Given the description of an element on the screen output the (x, y) to click on. 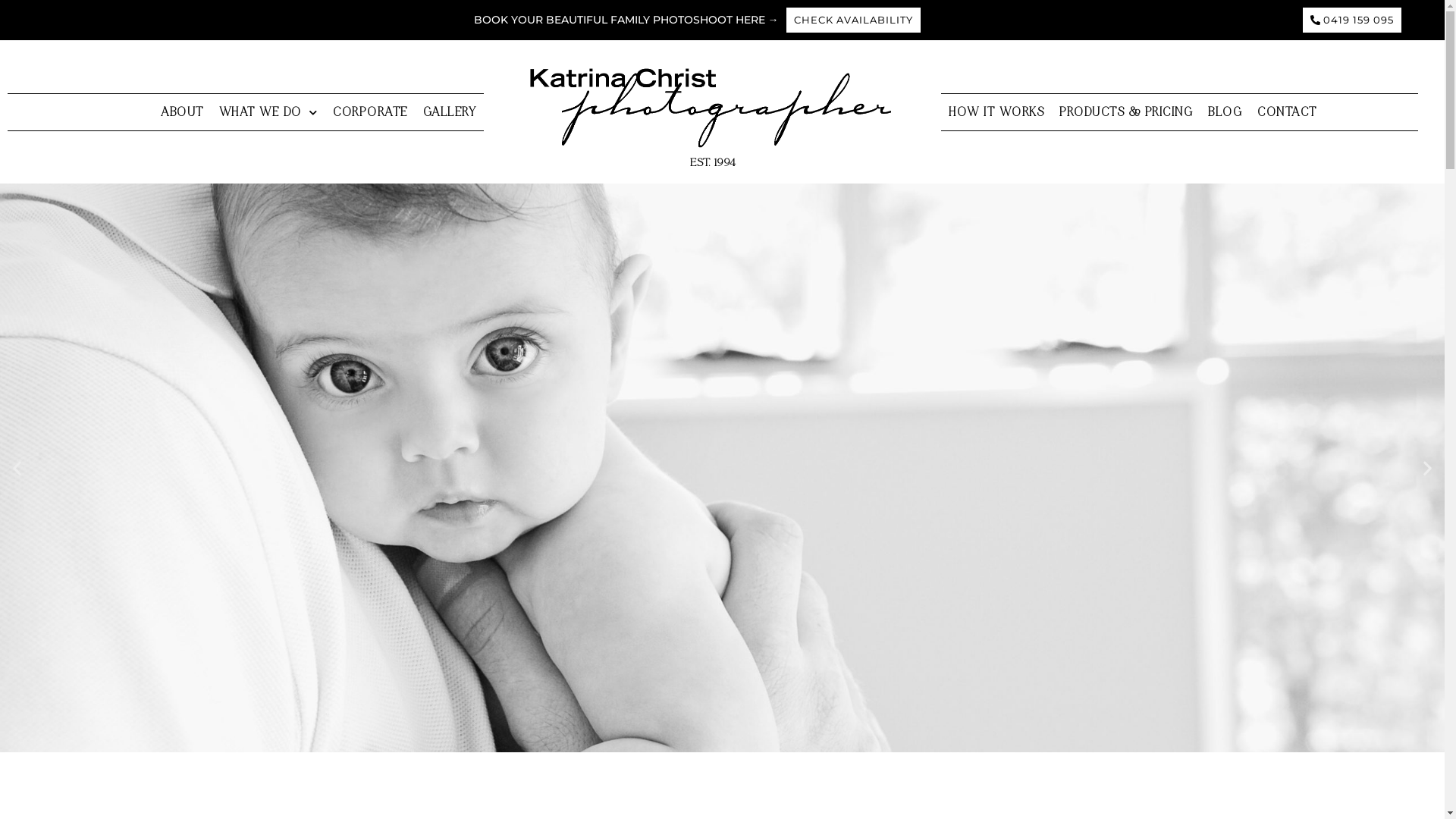
HOW IT WORKS Element type: text (996, 112)
ABOUT Element type: text (182, 112)
PRODUCTS & PRICING Element type: text (1125, 112)
CORPORATE Element type: text (370, 112)
GALLERY Element type: text (449, 112)
WHAT WE DO Element type: text (268, 112)
BLOG Element type: text (1224, 112)
CONTACT Element type: text (1286, 112)
CHECK AVAILABILITY Element type: text (853, 19)
0419 159 095 Element type: text (1351, 19)
